Given the description of an element on the screen output the (x, y) to click on. 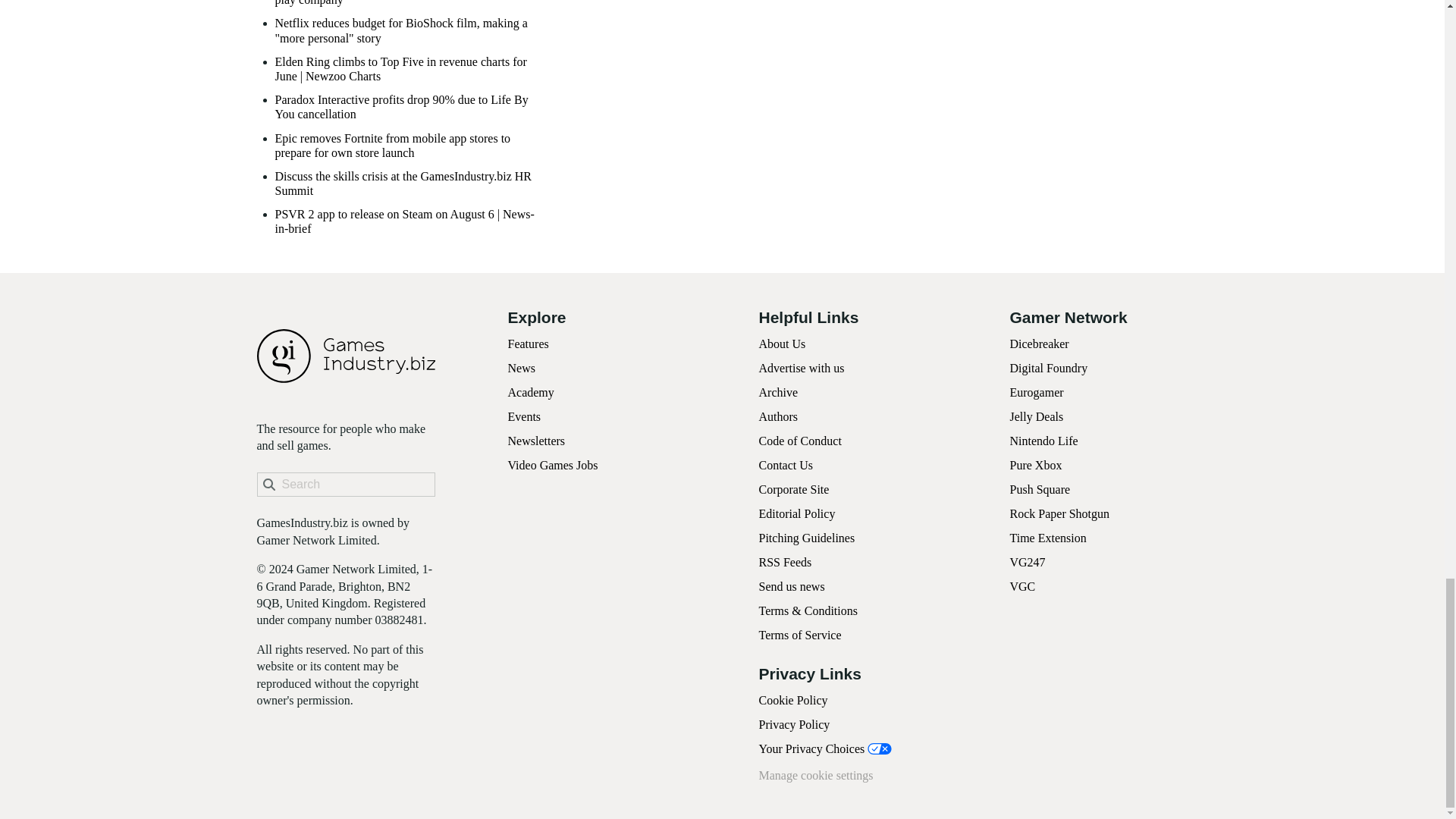
News (521, 367)
Features (528, 343)
Advertise with us (801, 367)
Newsletters (537, 440)
Academy (531, 391)
Video Games Jobs (553, 464)
Events (524, 416)
Archive (777, 391)
About Us (781, 343)
Discuss the skills crisis at the GamesIndustry.biz HR Summit (409, 183)
